Given the description of an element on the screen output the (x, y) to click on. 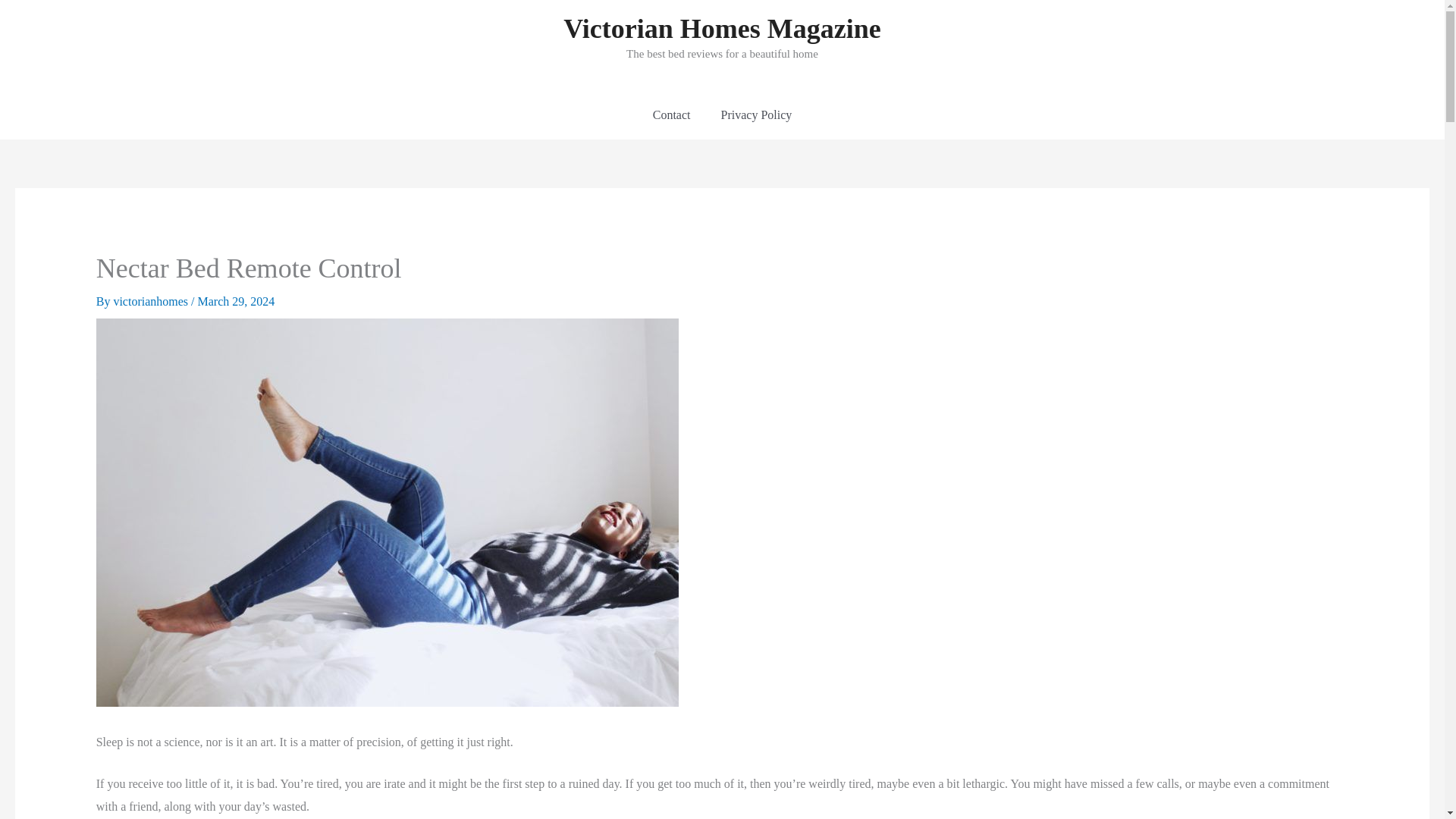
Privacy Policy (755, 114)
Victorian Homes Magazine (721, 28)
View all posts by victorianhomes (151, 300)
Contact (671, 114)
victorianhomes (151, 300)
